Given the description of an element on the screen output the (x, y) to click on. 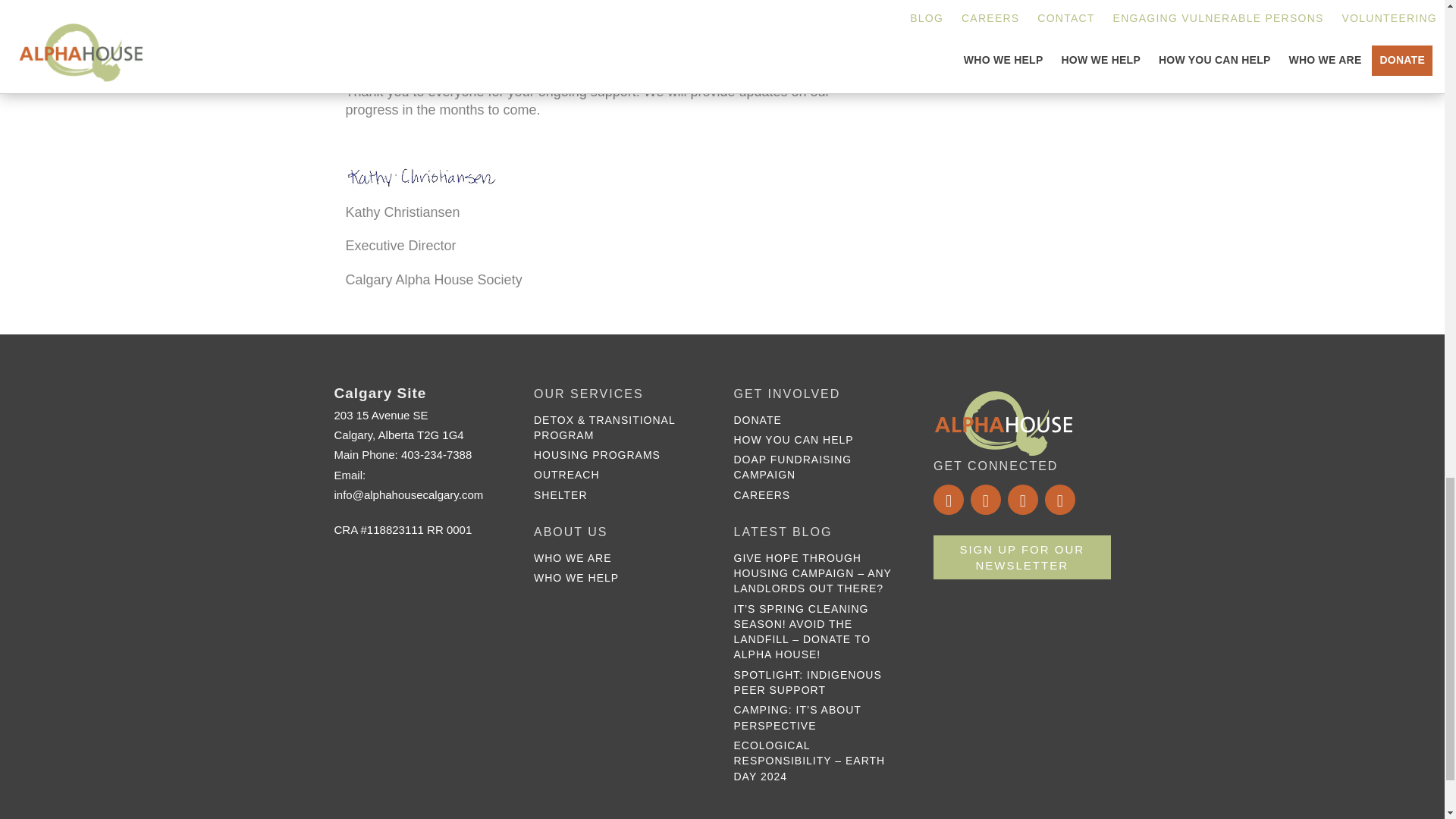
HOUSING PROGRAMS (597, 454)
